Given the description of an element on the screen output the (x, y) to click on. 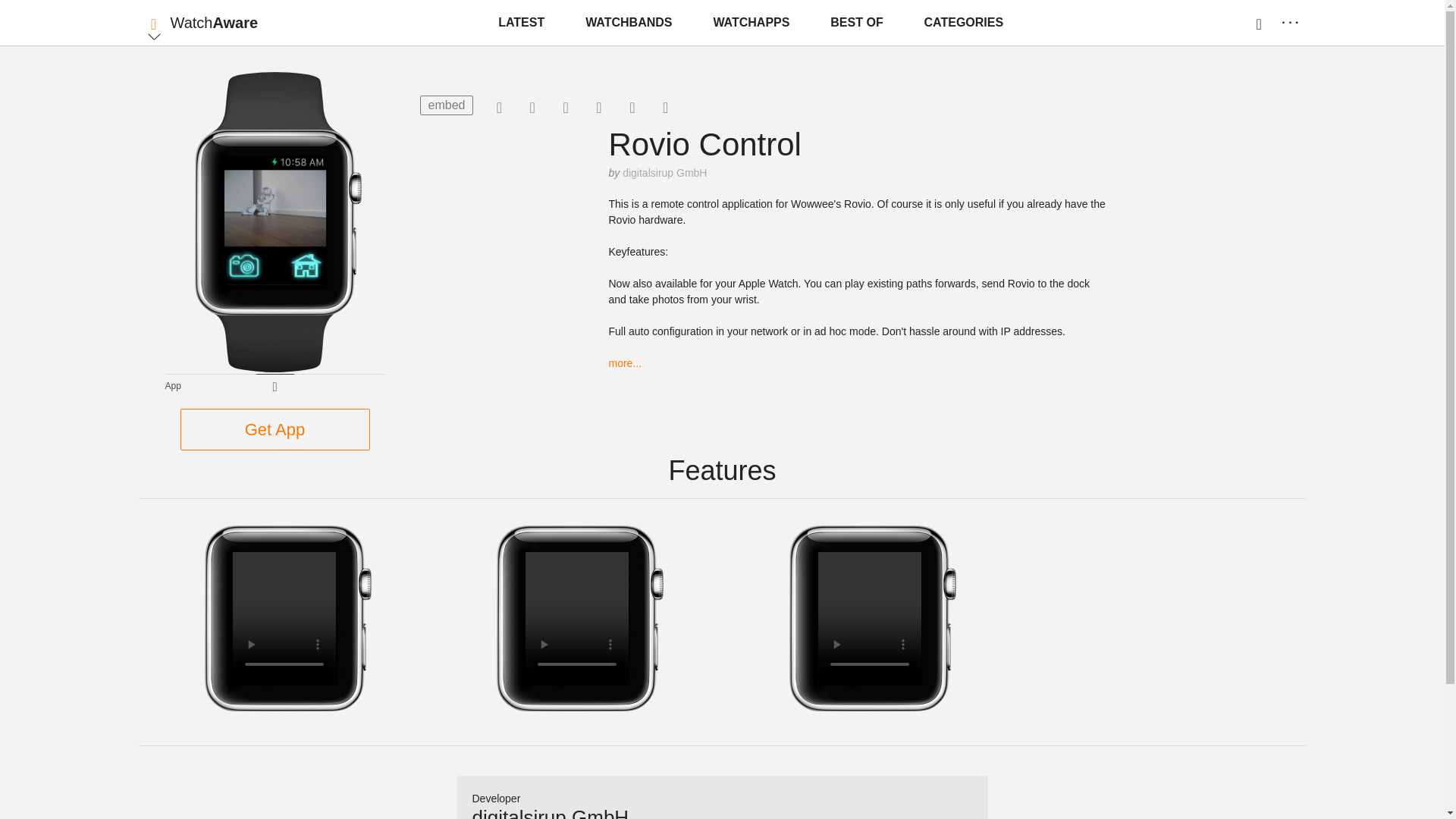
WATCHBANDS (628, 22)
embed (447, 105)
LATEST (520, 22)
WATCHAPPS (751, 22)
BEST OF (855, 22)
CATEGORIES (964, 22)
WatchAware (213, 22)
